Given the description of an element on the screen output the (x, y) to click on. 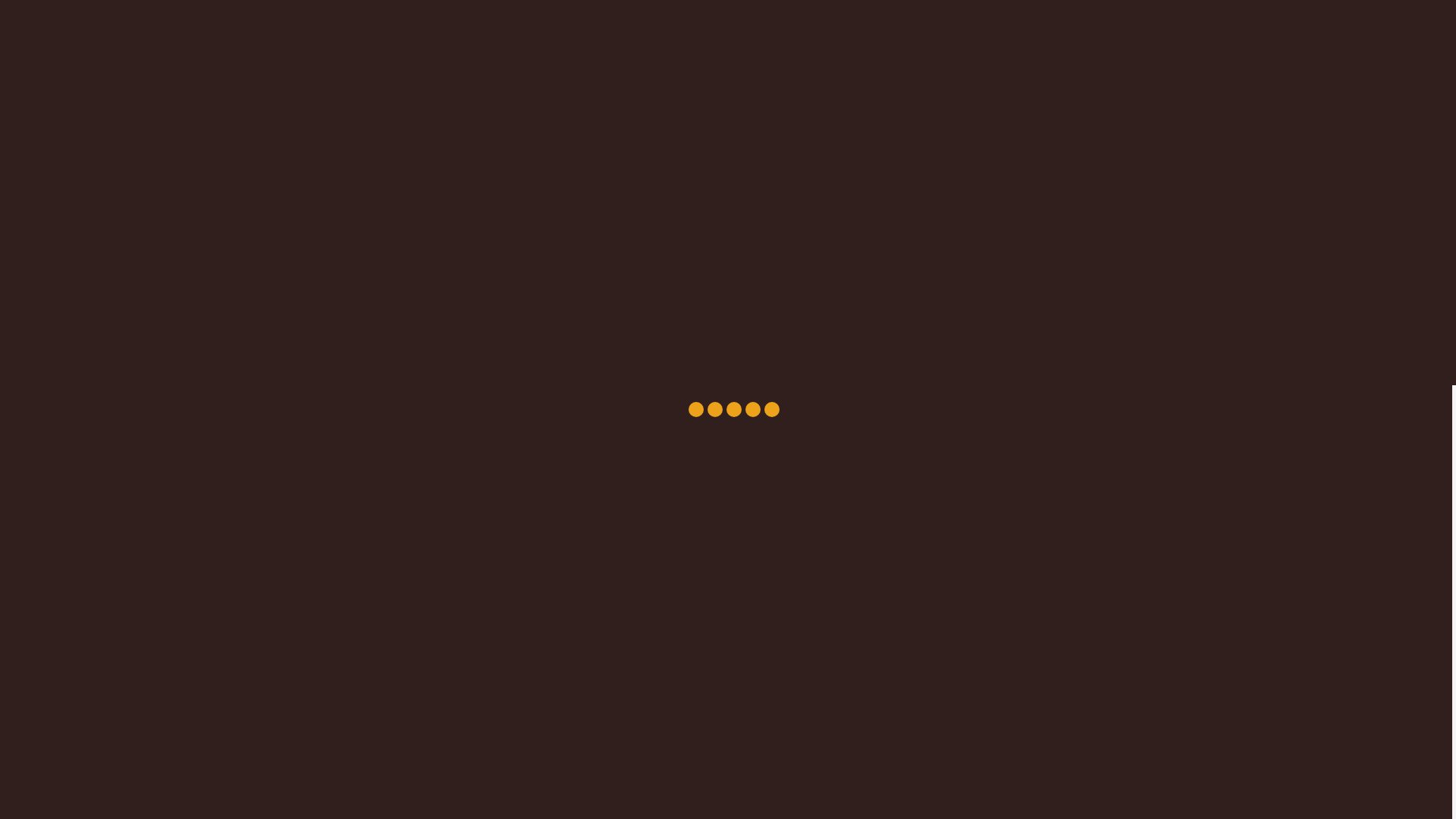
MASA&STULL Element type: text (374, 267)
SIENA Element type: text (1100, 257)
AXTAR Element type: text (1021, 733)
QONAQ MEBELI Element type: text (374, 148)
Look Element type: text (1100, 186)
QAPILAR Element type: text (374, 178)
ARAN Element type: text (1100, 222)
